Given the description of an element on the screen output the (x, y) to click on. 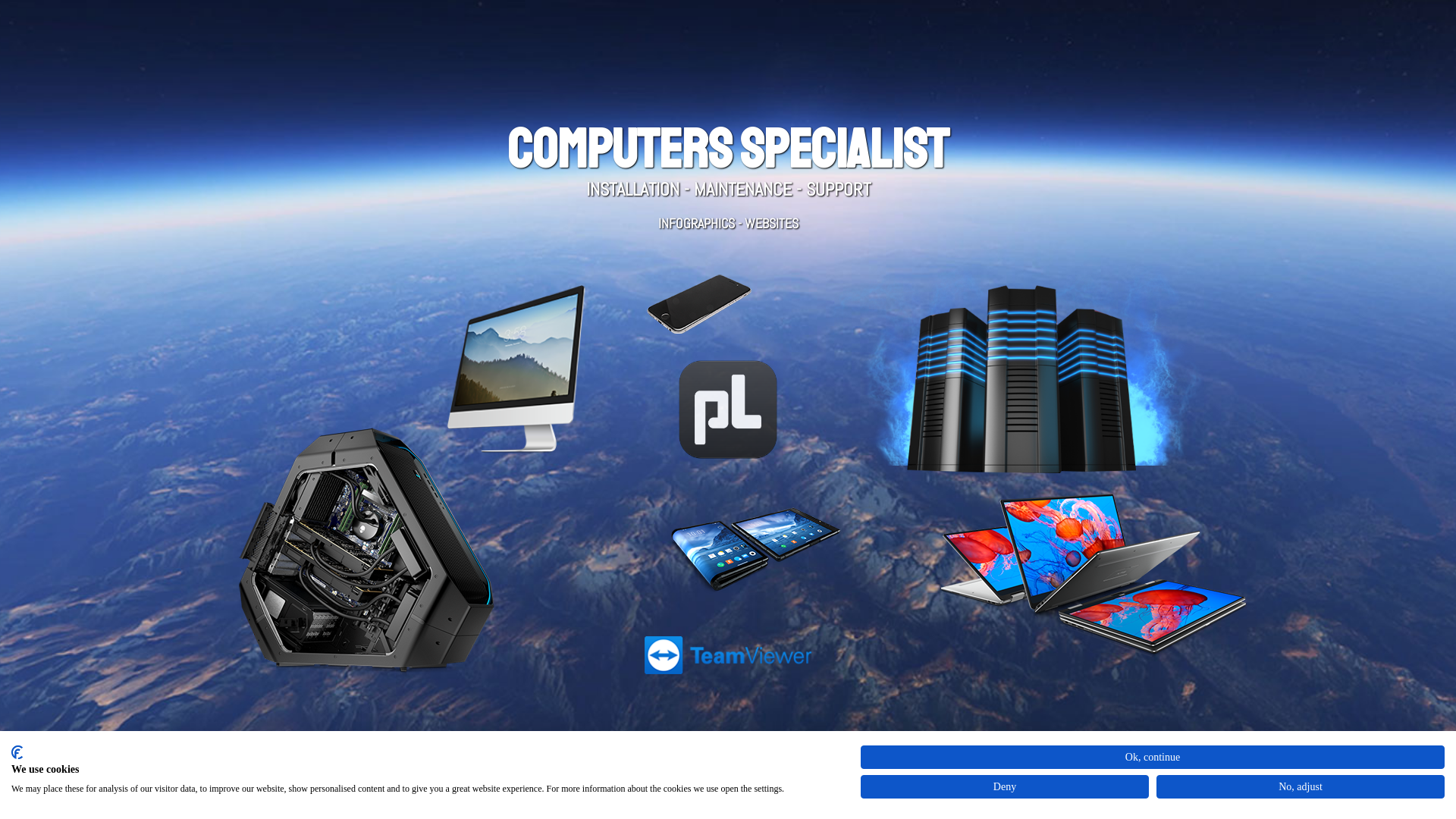
No, adjust Element type: text (1300, 786)
Ok, continue Element type: text (1152, 756)
Deny Element type: text (1004, 786)
